Given the description of an element on the screen output the (x, y) to click on. 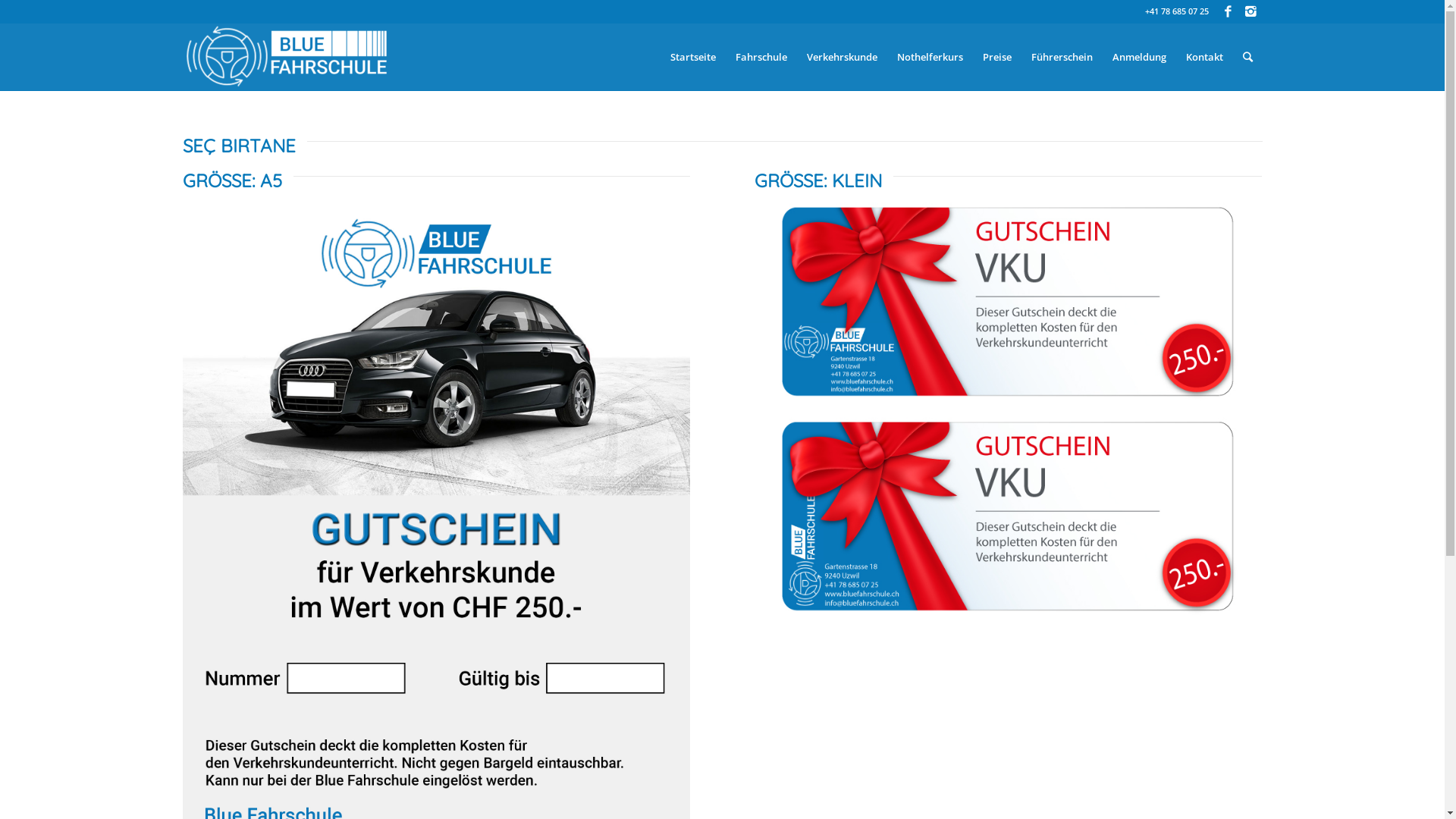
Startseite Element type: text (691, 56)
gutschein_small2_02 Element type: hover (1007, 515)
Kontakt Element type: text (1203, 56)
Instagram Element type: hover (1250, 11)
Preise Element type: text (996, 56)
Facebook Element type: hover (1227, 11)
gutschein_02 Element type: hover (1007, 300)
Verkehrskunde Element type: text (841, 56)
Nothelferkurs Element type: text (929, 56)
Anmeldung Element type: text (1139, 56)
Fahrschule Element type: text (760, 56)
